Given the description of an element on the screen output the (x, y) to click on. 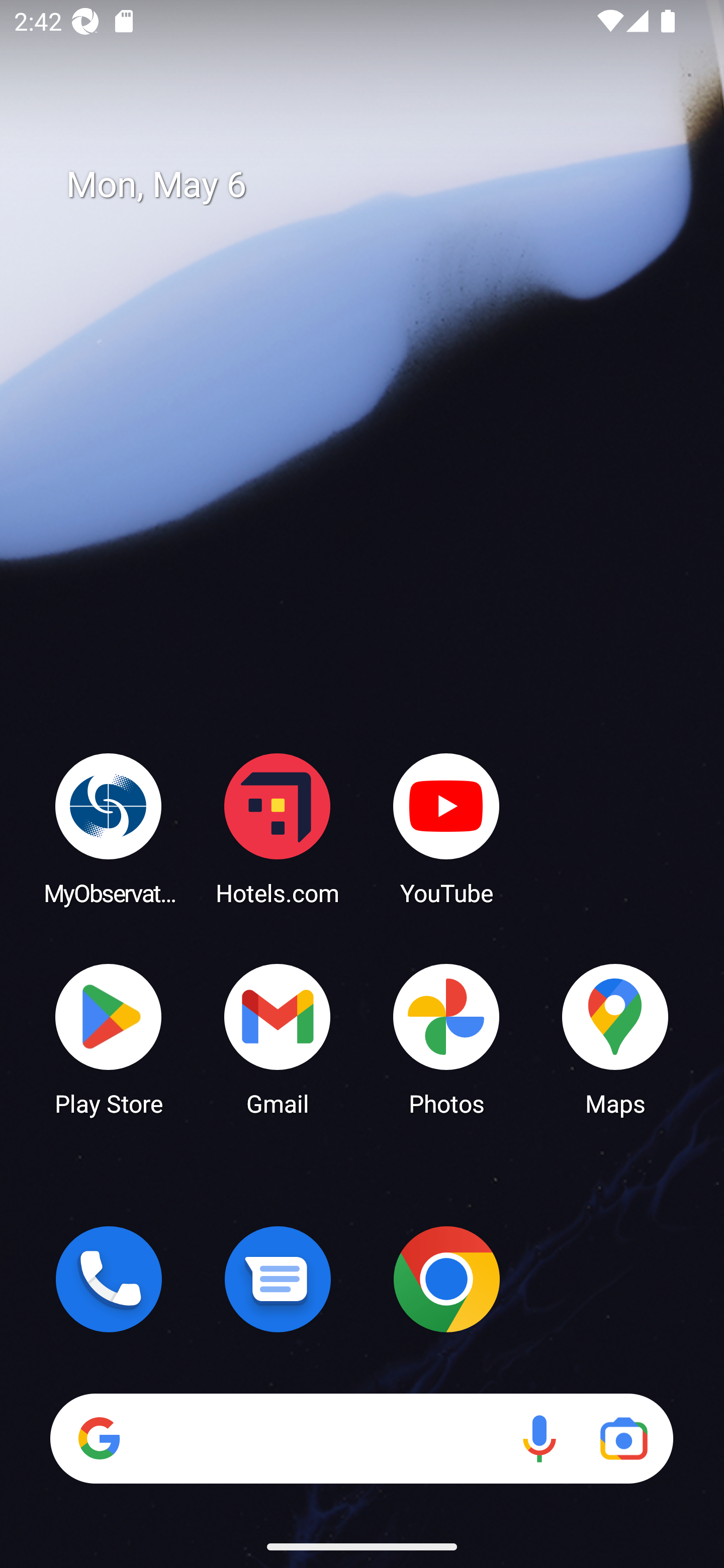
Mon, May 6 (375, 184)
MyObservatory (108, 828)
Hotels.com (277, 828)
YouTube (445, 828)
Play Store (108, 1038)
Gmail (277, 1038)
Photos (445, 1038)
Maps (615, 1038)
Phone (108, 1279)
Messages (277, 1279)
Chrome (446, 1279)
Search Voice search Google Lens (361, 1438)
Voice search (539, 1438)
Google Lens (623, 1438)
